Given the description of an element on the screen output the (x, y) to click on. 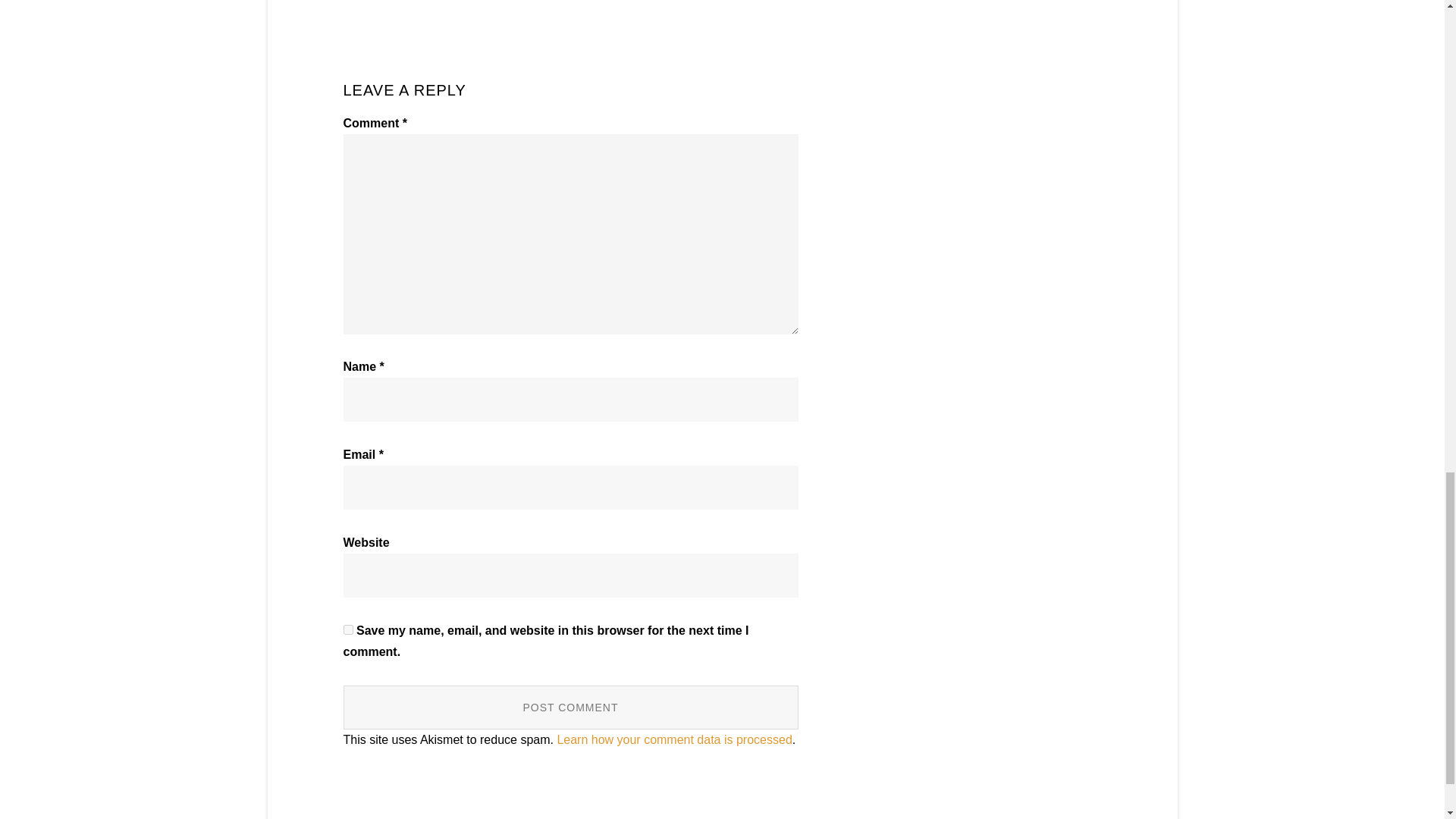
Post Comment (569, 707)
Learn how your comment data is processed (674, 739)
Post Comment (569, 707)
yes (347, 629)
